Given the description of an element on the screen output the (x, y) to click on. 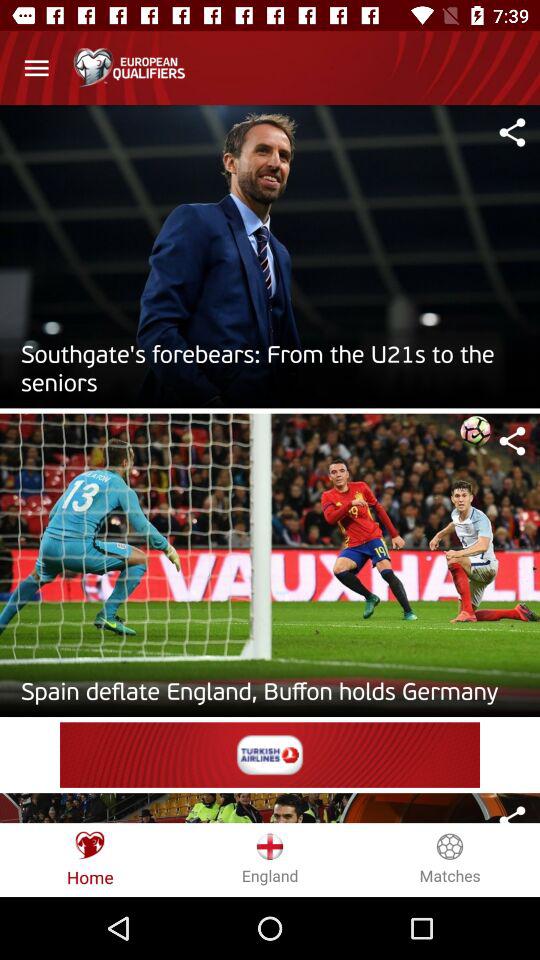
share page (512, 132)
